Given the description of an element on the screen output the (x, y) to click on. 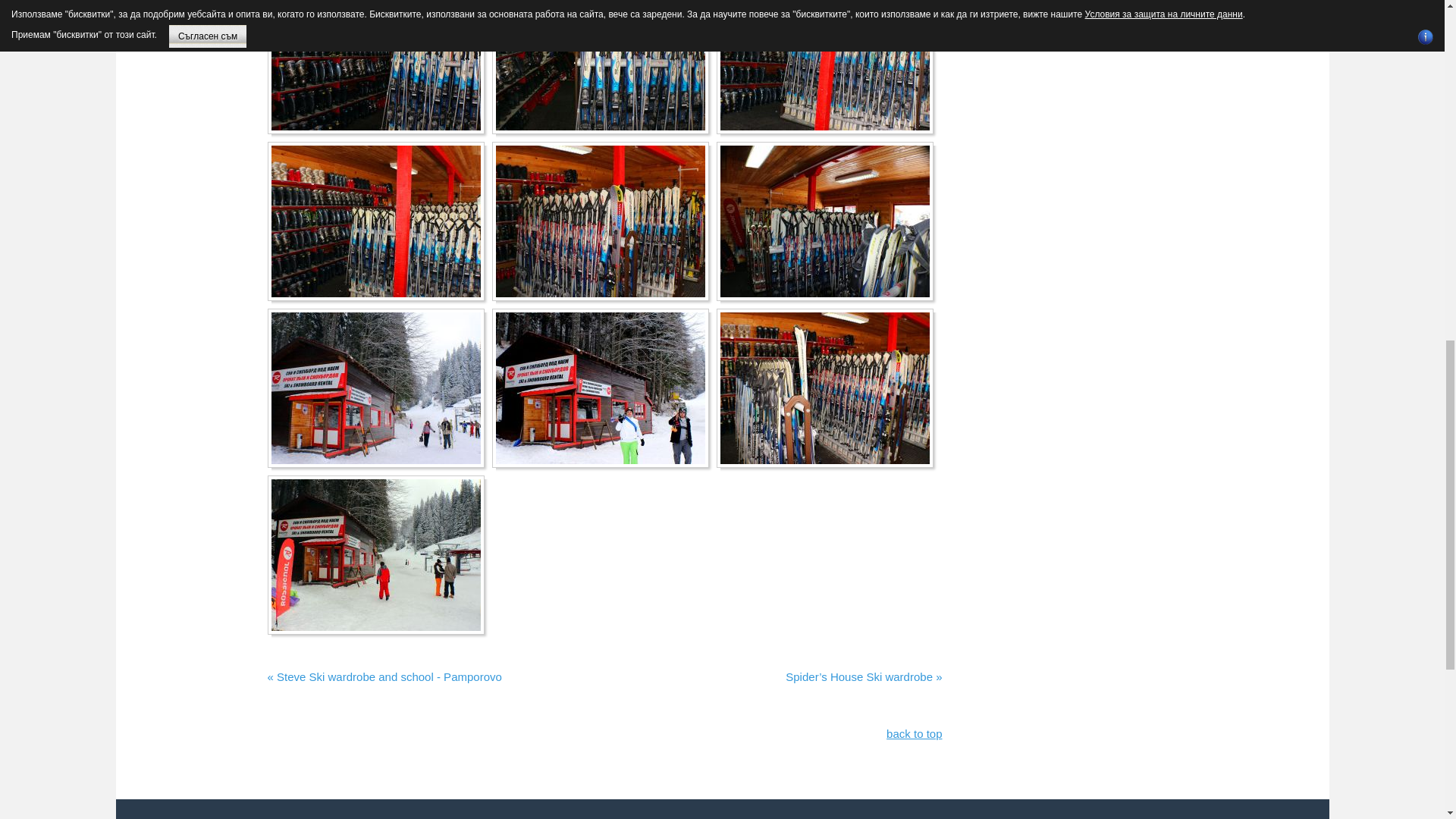
Click to enlarge image ski-garderob-rossignol-3.jpg (375, 221)
Click to enlarge image ski-garderob-1.jpg (375, 65)
Click to enlarge image ski-garderob-rossignol-1.jpg (600, 65)
Click to enlarge image ski-garderob-rossignol-2.jpg (825, 65)
